Given the description of an element on the screen output the (x, y) to click on. 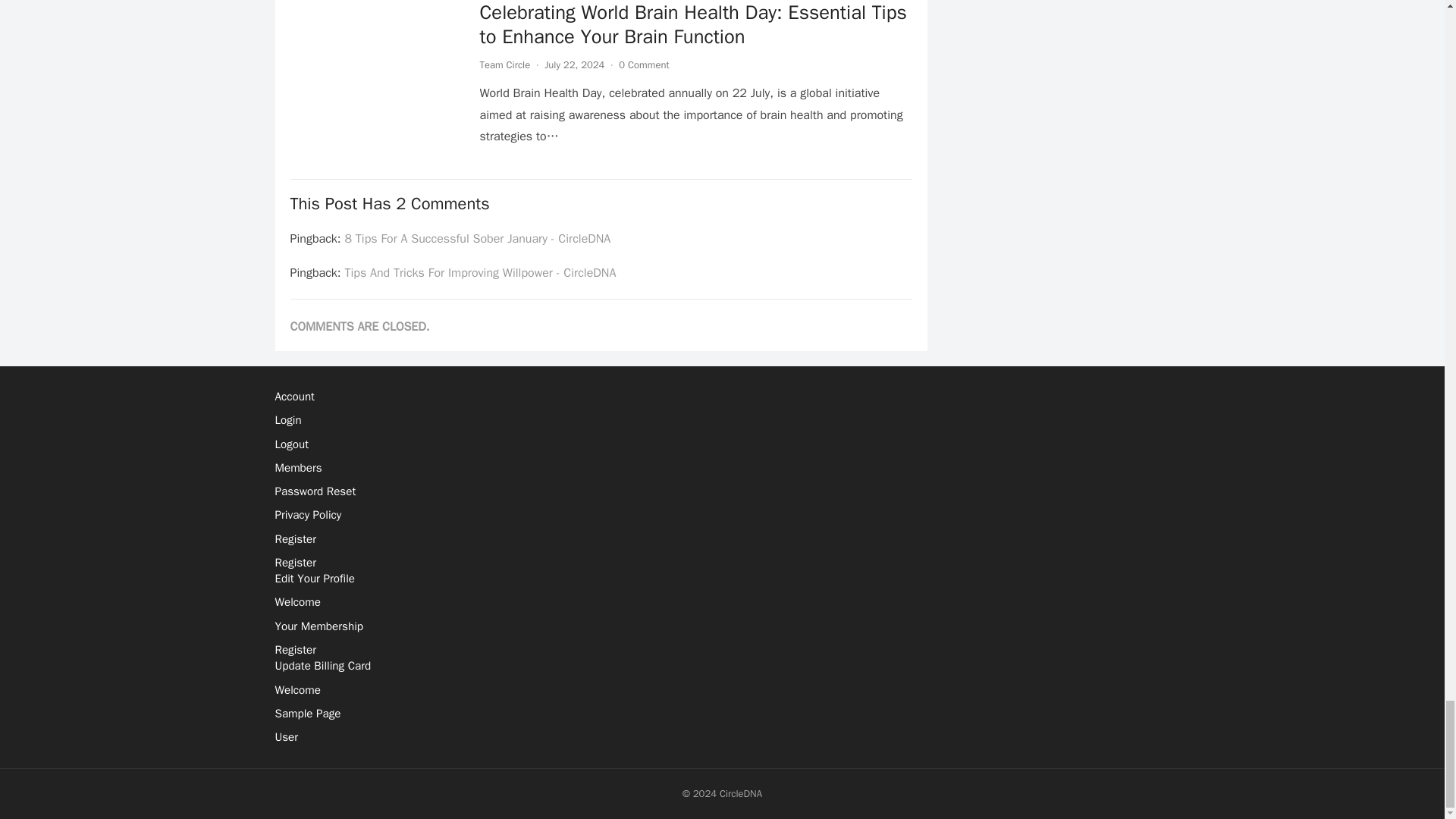
Posts by Team Circle (504, 64)
